Given the description of an element on the screen output the (x, y) to click on. 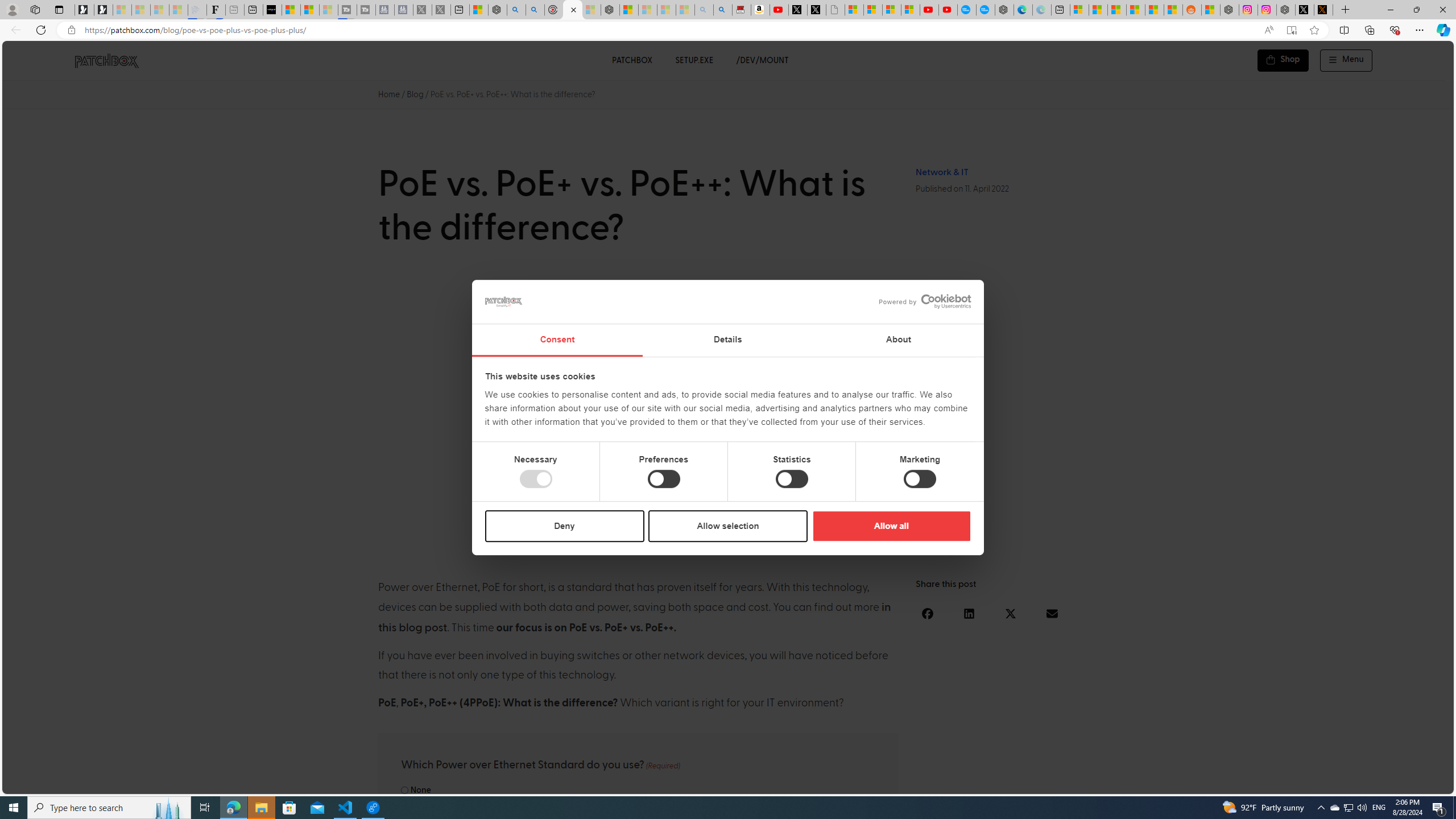
Details (727, 340)
Statistics (791, 479)
Preferences (663, 479)
SETUP.EXE (694, 60)
Powered by Cookiebot (925, 301)
Share on email (1051, 613)
PATCHBOX (631, 60)
